Given the description of an element on the screen output the (x, y) to click on. 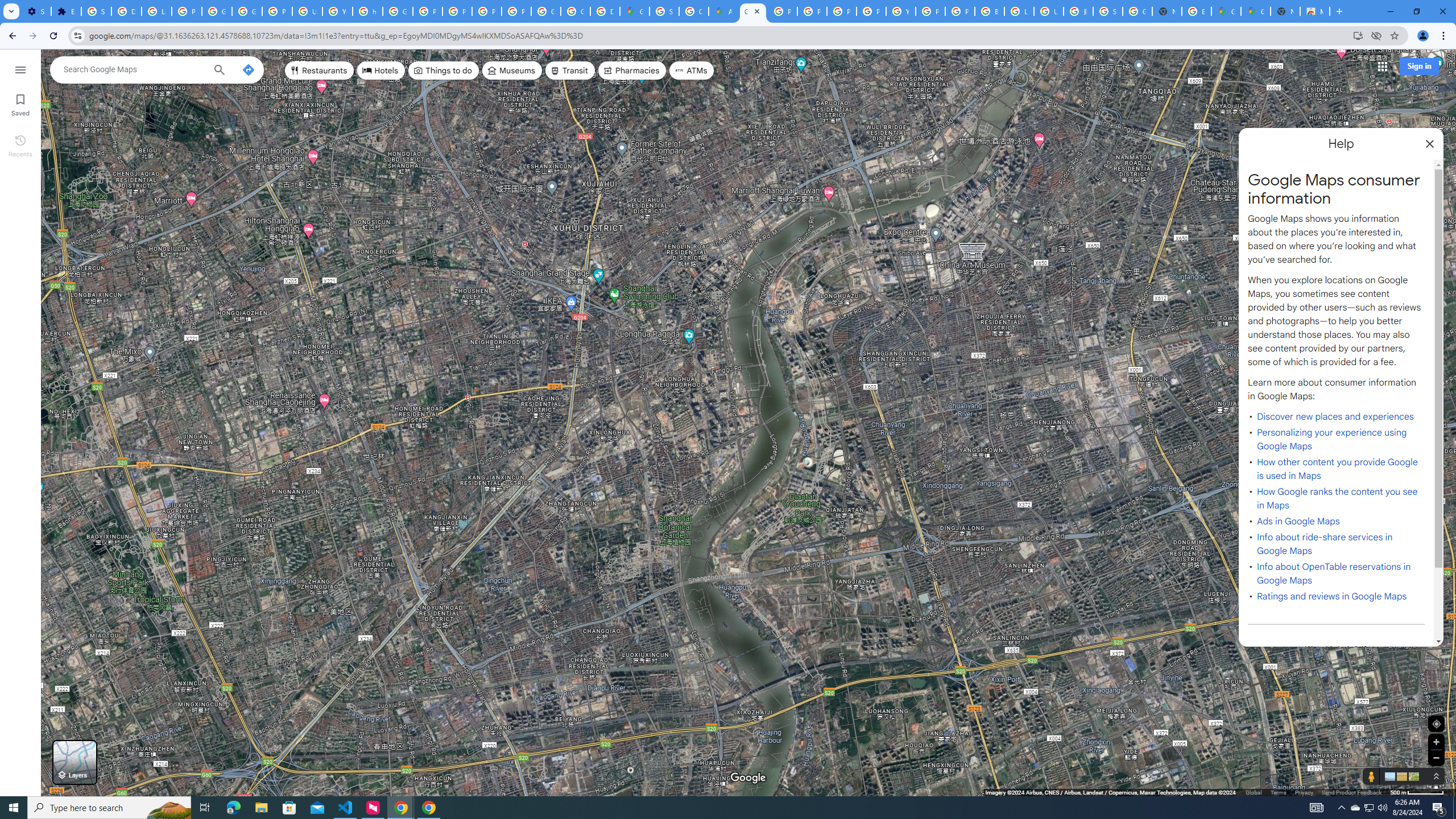
Pharmacies (632, 70)
YouTube (337, 11)
Show Your Location (1436, 723)
Explore new street-level details - Google Maps Help (1196, 11)
